Given the description of an element on the screen output the (x, y) to click on. 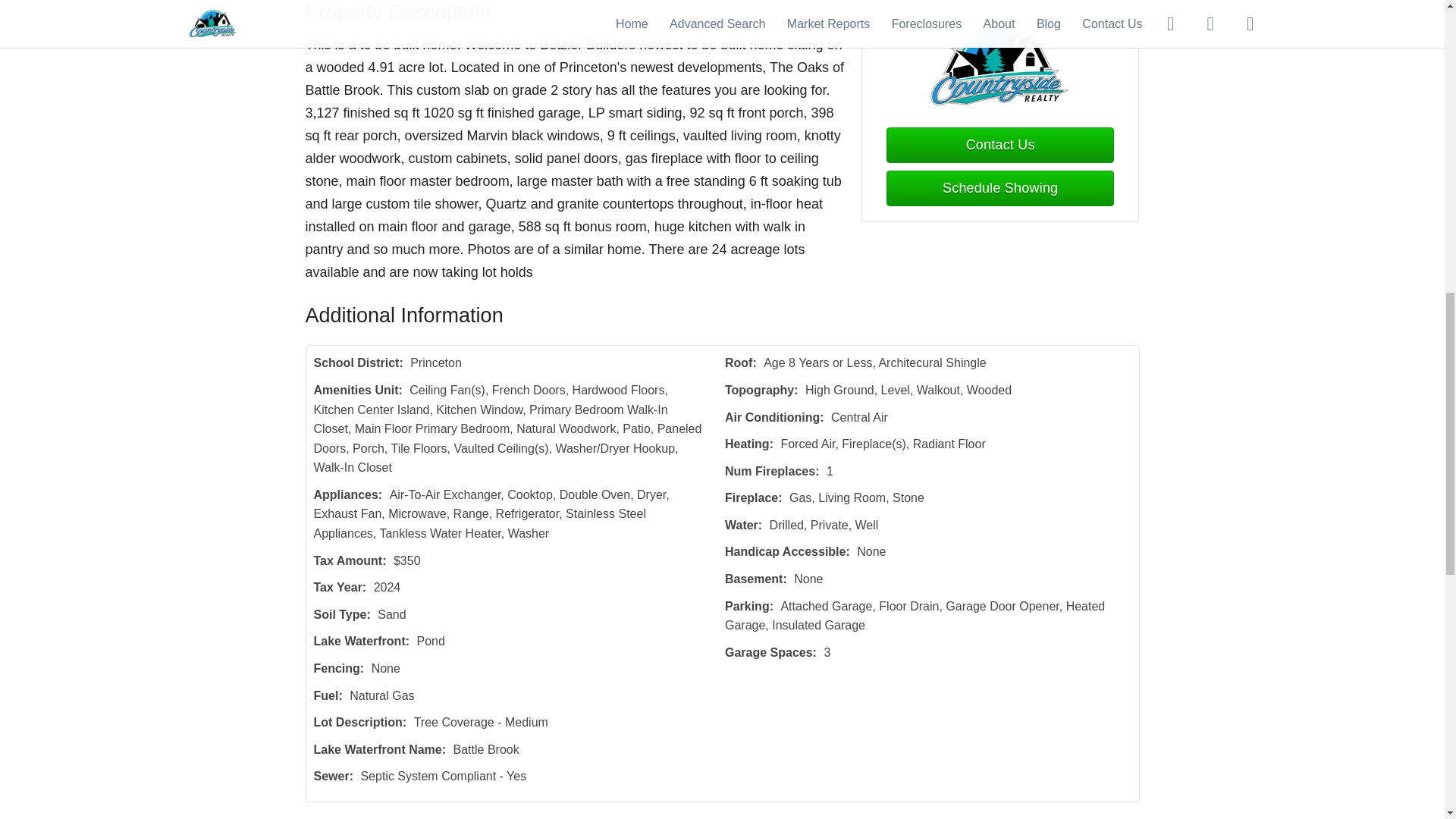
Schedule Showing (999, 188)
Contact Us (999, 144)
